Given the description of an element on the screen output the (x, y) to click on. 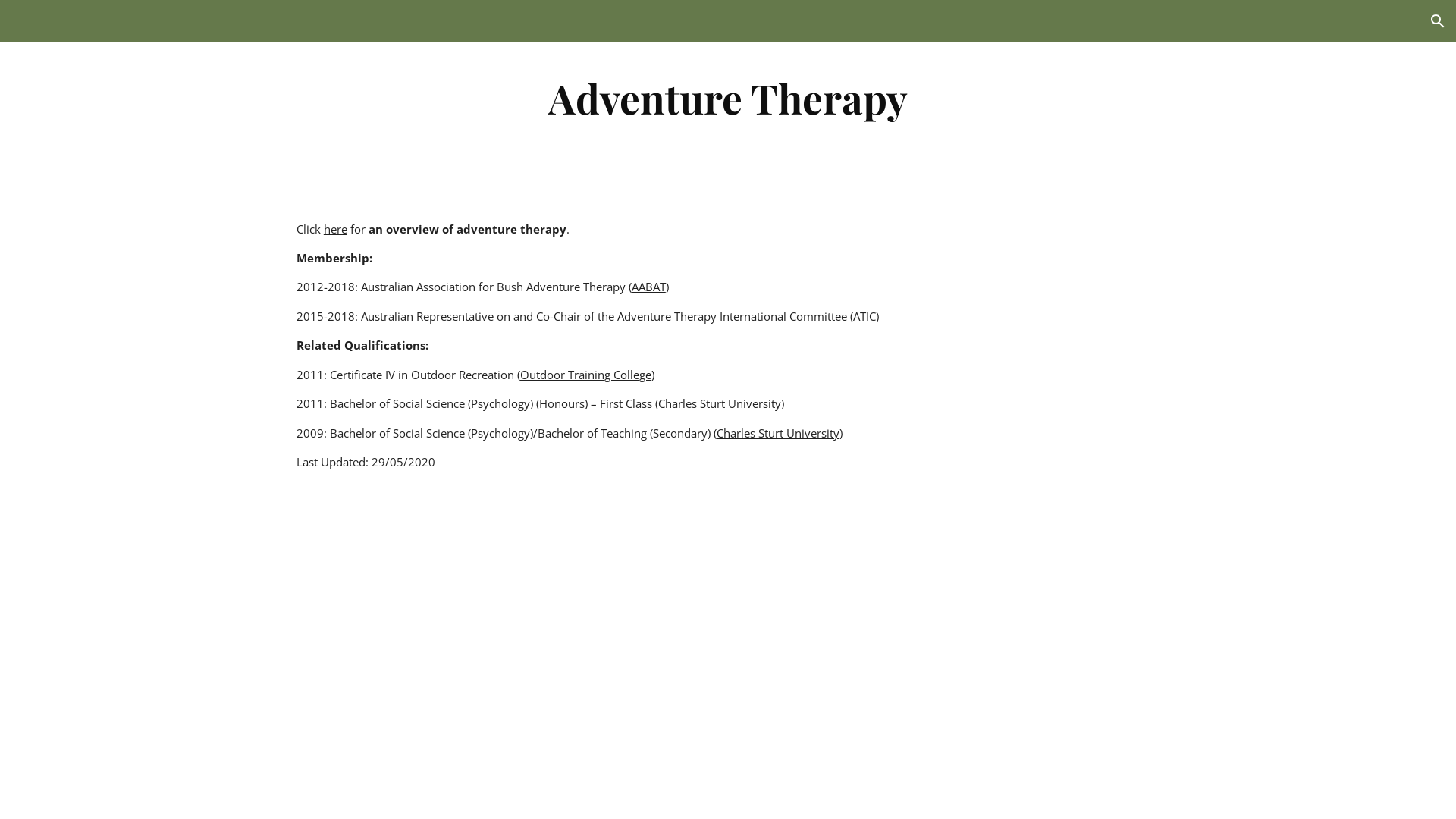
Outdoor Training College Element type: text (585, 374)
Charles Sturt University Element type: text (719, 403)
AABAT Element type: text (648, 286)
Charles Sturt University Element type: text (777, 432)
here Element type: text (335, 228)
